Given the description of an element on the screen output the (x, y) to click on. 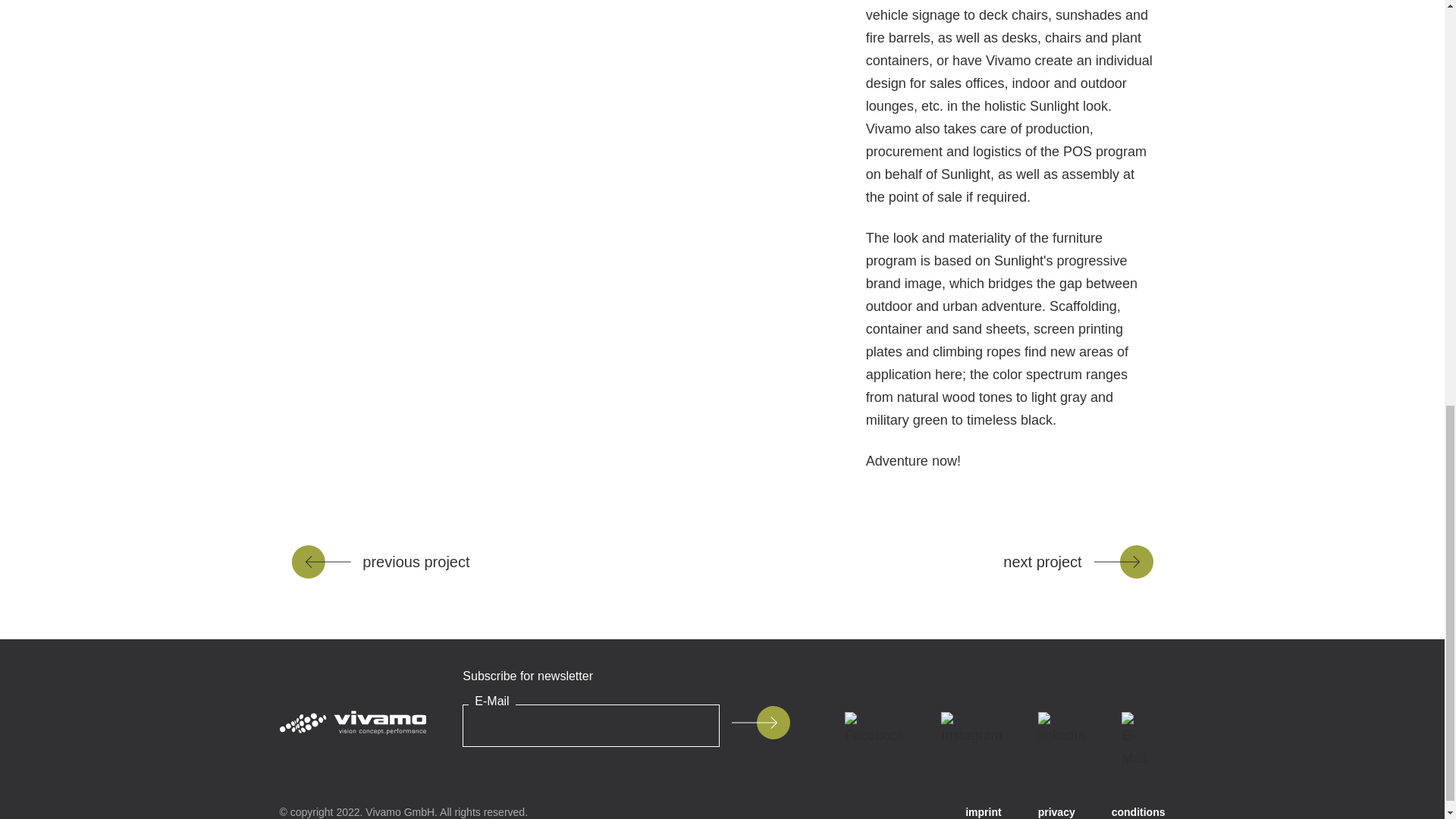
Facebook (875, 728)
privacy (1056, 812)
imprint (983, 812)
submit form (760, 722)
linkedIn (1061, 728)
next project (1078, 561)
Instagram (971, 728)
previous project (379, 561)
conditions (1139, 812)
